Given the description of an element on the screen output the (x, y) to click on. 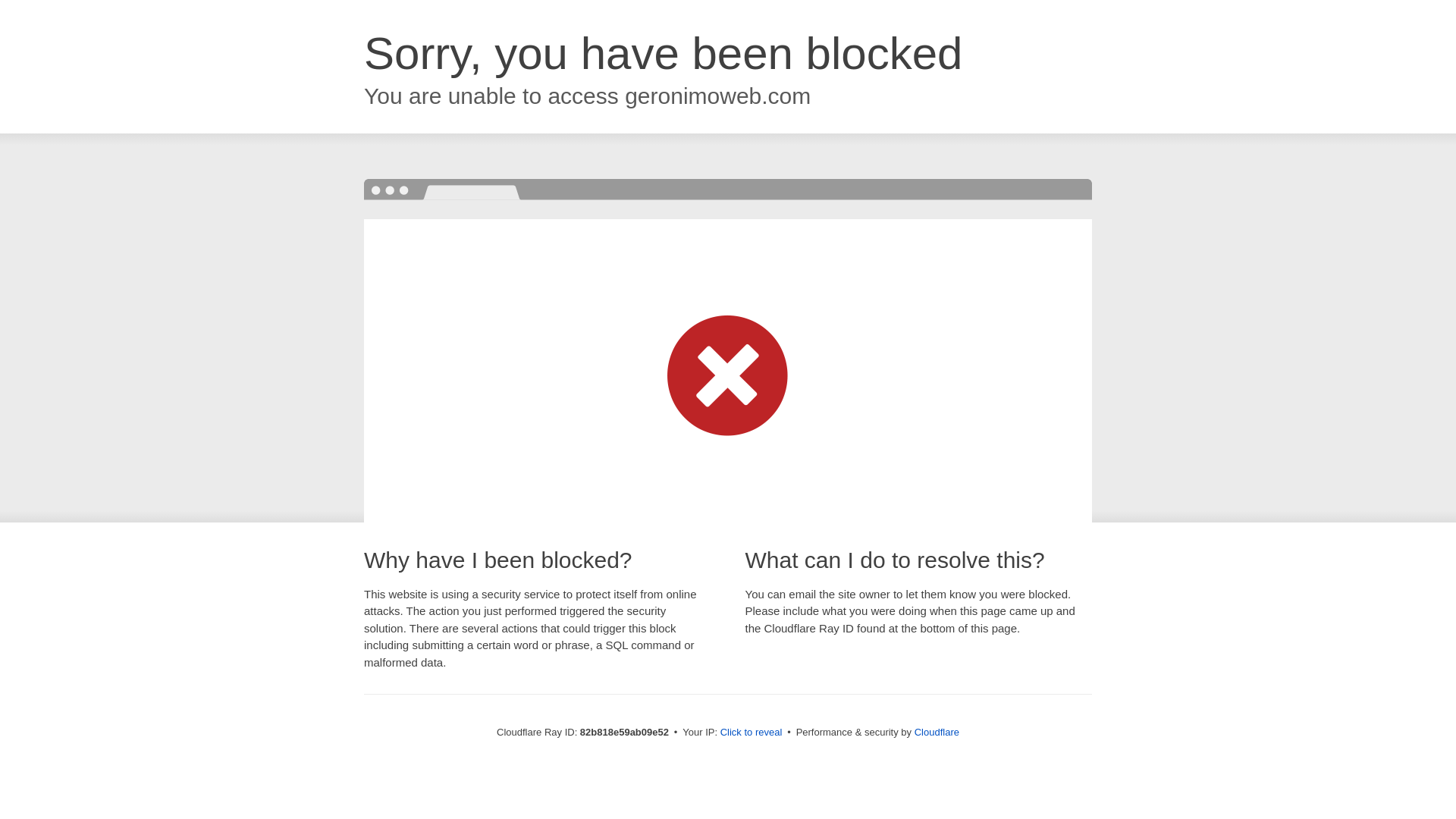
Cloudflare Element type: text (936, 731)
Click to reveal Element type: text (751, 732)
